Given the description of an element on the screen output the (x, y) to click on. 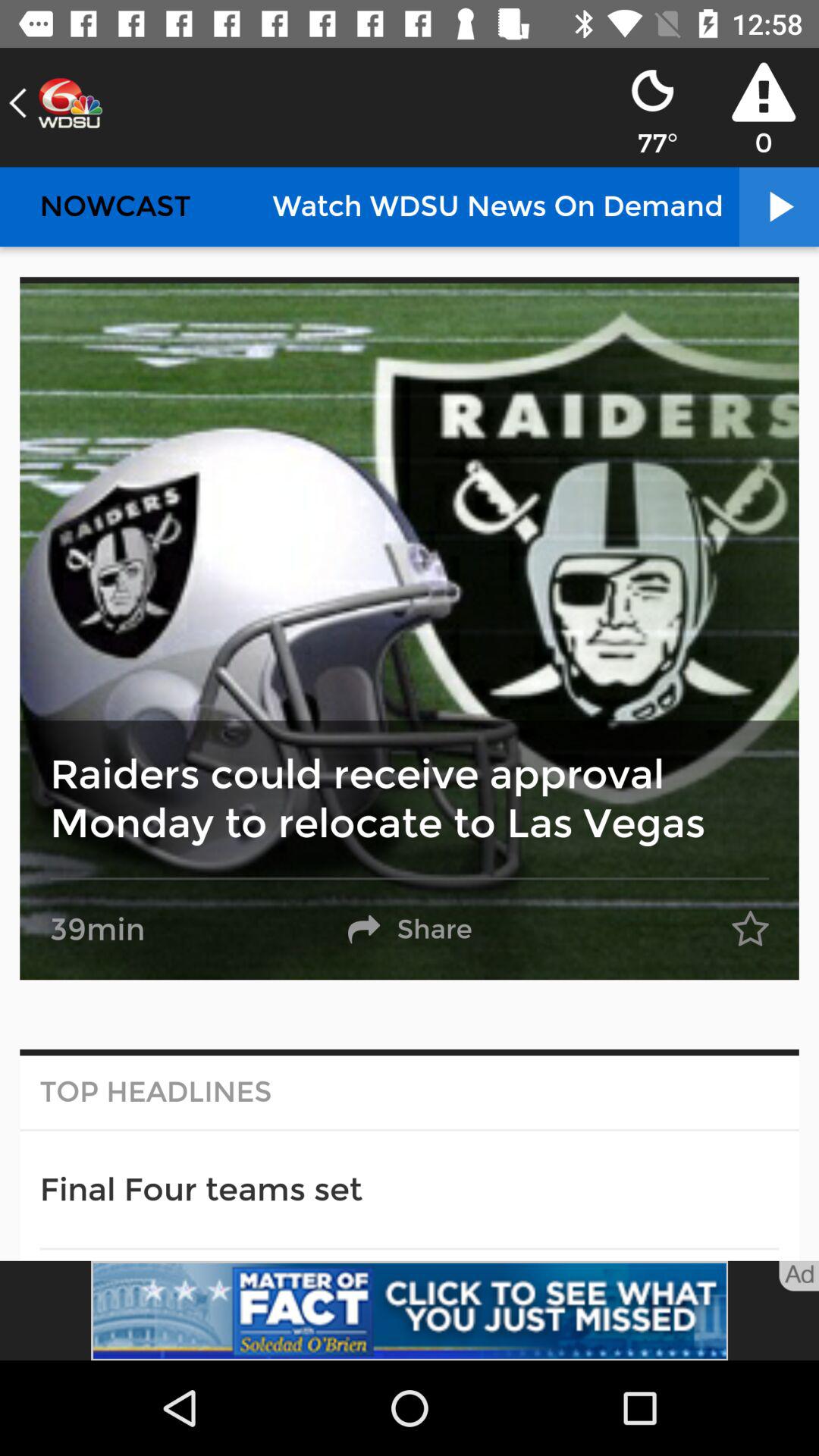
advertisement (409, 1310)
